Given the description of an element on the screen output the (x, y) to click on. 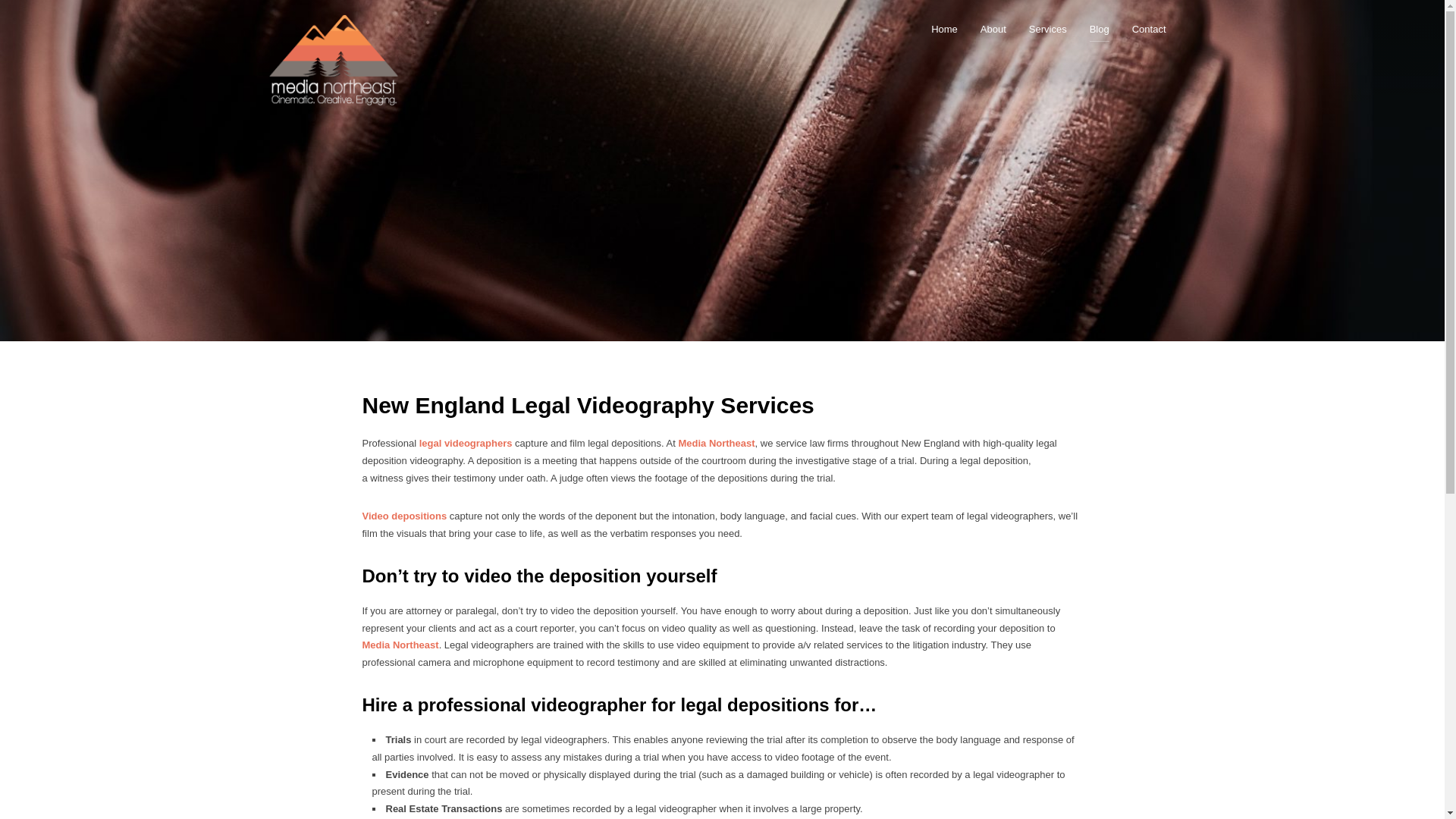
legal videographers (465, 442)
Home (944, 29)
About (992, 29)
Contact (1149, 29)
Media Northeast (716, 442)
Media Northeast (400, 644)
Services (1048, 29)
Video depositions (404, 515)
